Given the description of an element on the screen output the (x, y) to click on. 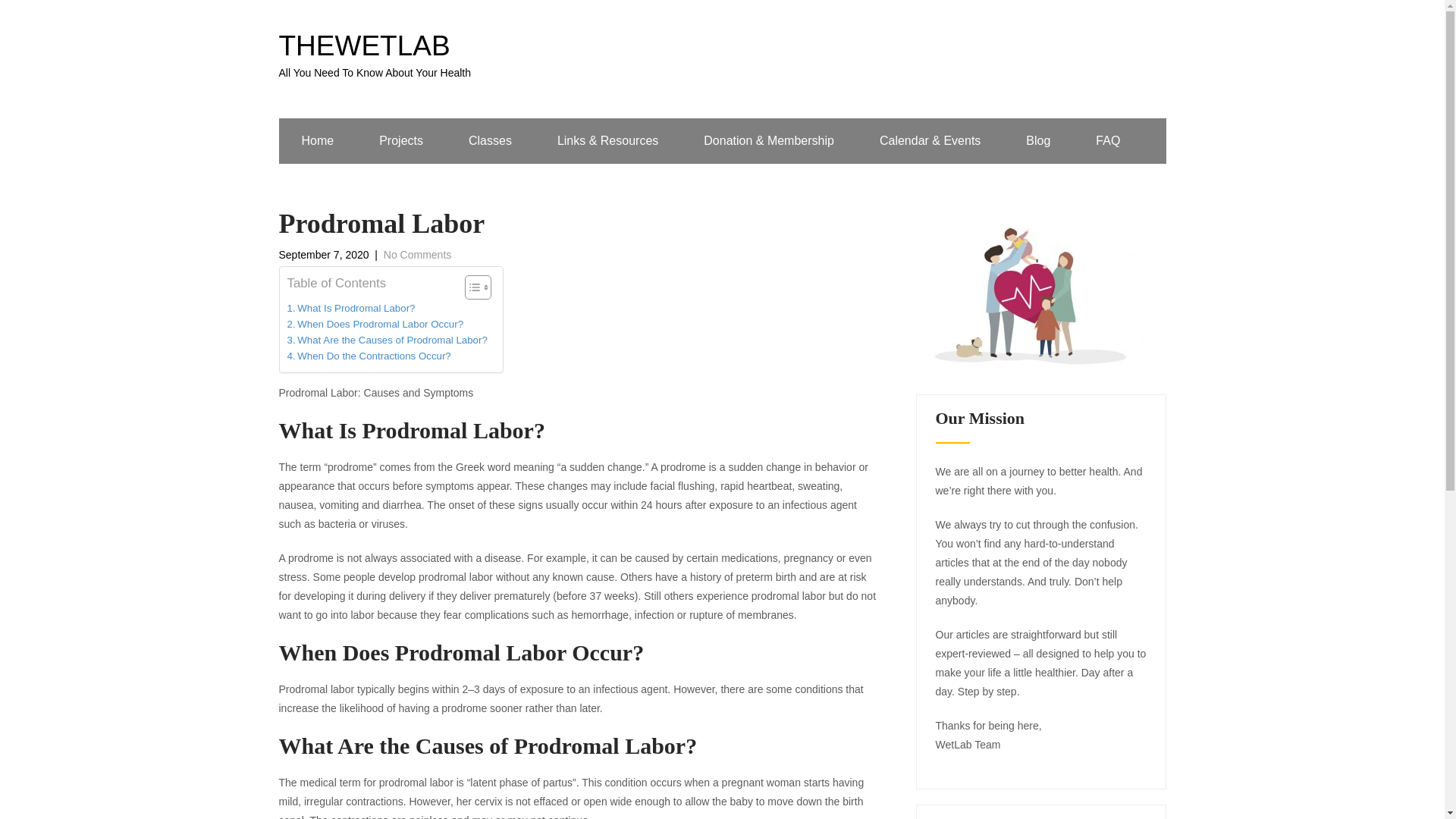
When Do the Contractions Occur? (367, 355)
Classes (489, 140)
Projects (400, 140)
Home (317, 140)
What Is Prodromal Labor? (350, 308)
No Comments (417, 254)
What Are the Causes of Prodromal Labor? (386, 340)
When Do the Contractions Occur? (367, 355)
When Does Prodromal Labor Occur? (375, 58)
What Is Prodromal Labor? (374, 324)
FAQ (350, 308)
Blog (1107, 140)
What Are the Causes of Prodromal Labor? (1038, 140)
When Does Prodromal Labor Occur? (386, 340)
